Given the description of an element on the screen output the (x, y) to click on. 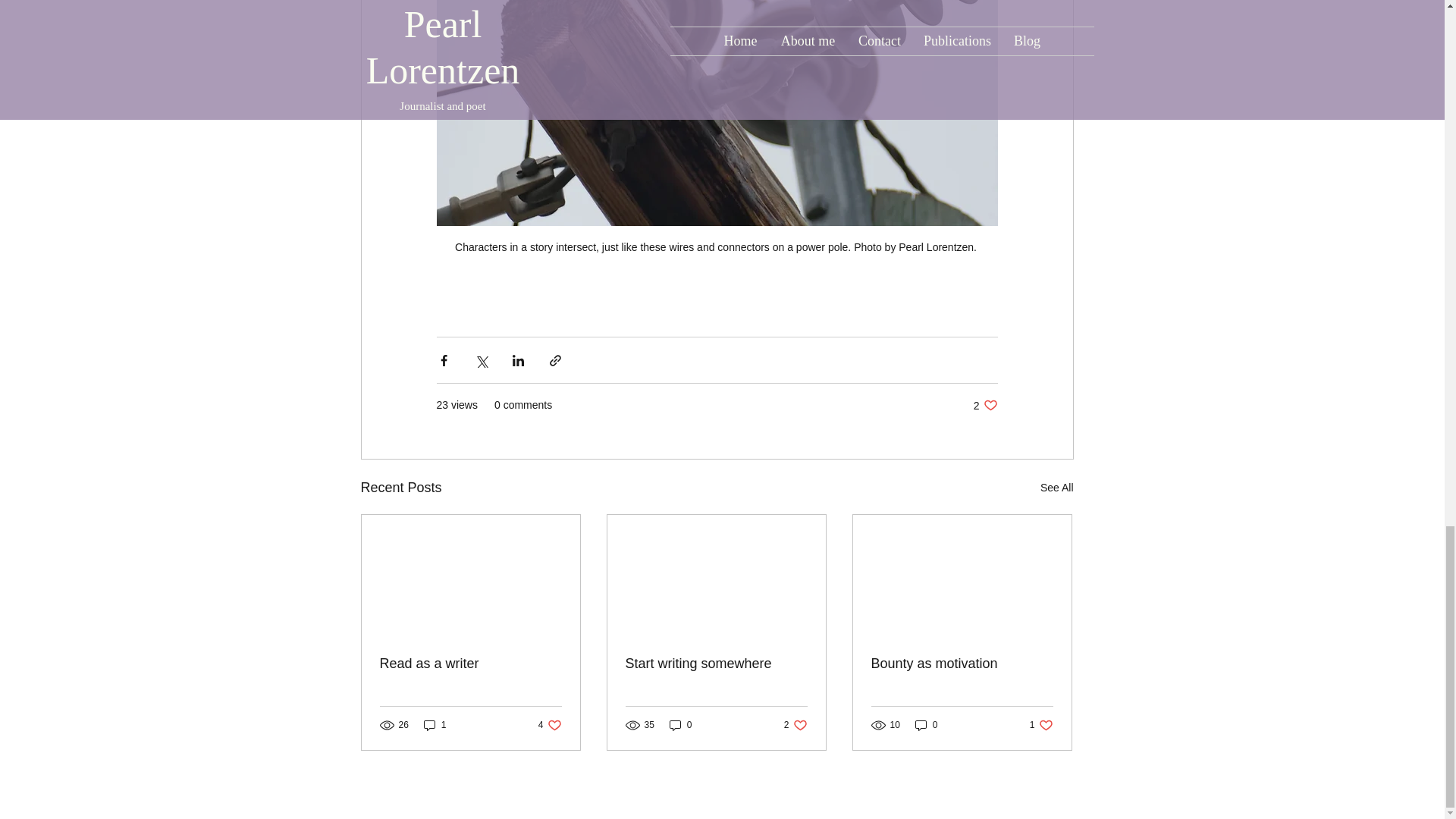
See All (1057, 487)
Bounty as motivation (961, 663)
0 (926, 725)
1 (435, 725)
0 (550, 725)
Start writing somewhere (681, 725)
Read as a writer (715, 663)
